Given the description of an element on the screen output the (x, y) to click on. 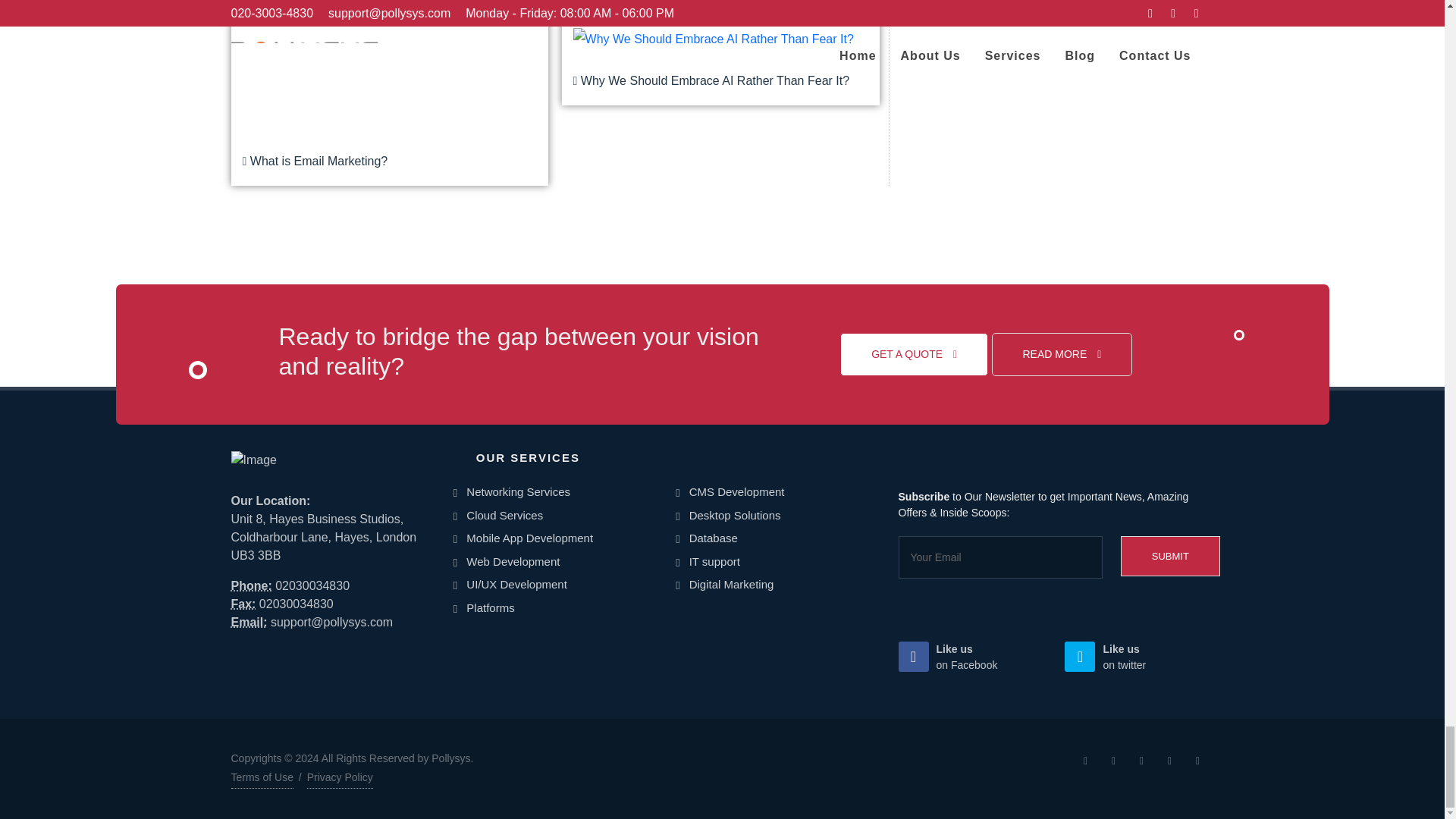
Why We Should Embrace AI Rather Than Fear It? (713, 60)
Email Address (248, 621)
What is Email Marketing? (390, 87)
Submit (1170, 556)
Phone Number (250, 585)
Fax (243, 603)
